Given the description of an element on the screen output the (x, y) to click on. 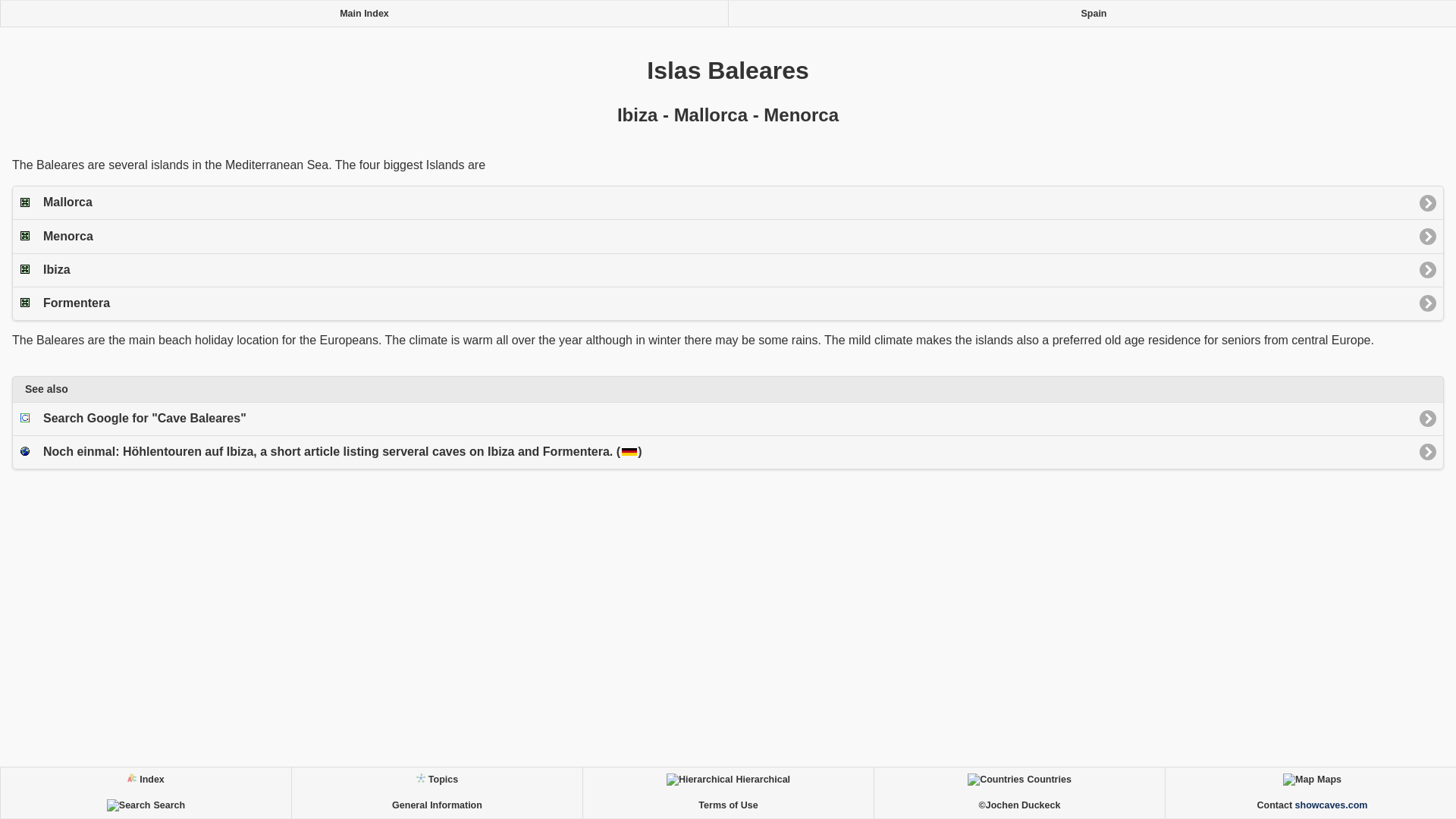
Mallorca (727, 202)
Formentera (727, 303)
Menorca (727, 235)
Main Index (364, 13)
Index (145, 780)
Ibiza (727, 269)
Search Google for "Cave Baleares" (727, 418)
Hierarchical (727, 780)
Countries (1018, 780)
Topics (436, 780)
